Given the description of an element on the screen output the (x, y) to click on. 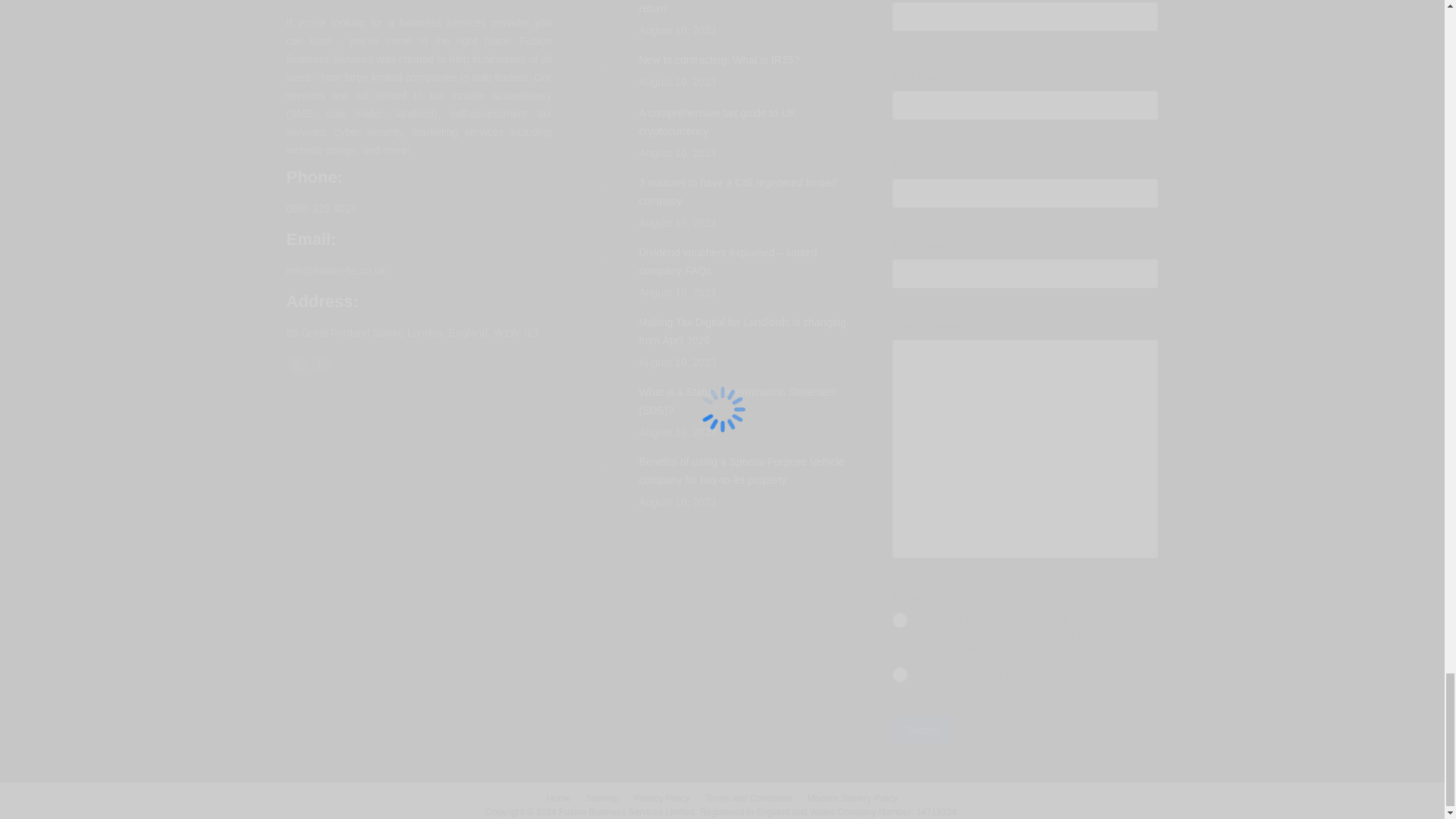
No, I do not want to receive any marketing emails. (899, 674)
Submit (922, 729)
